Given the description of an element on the screen output the (x, y) to click on. 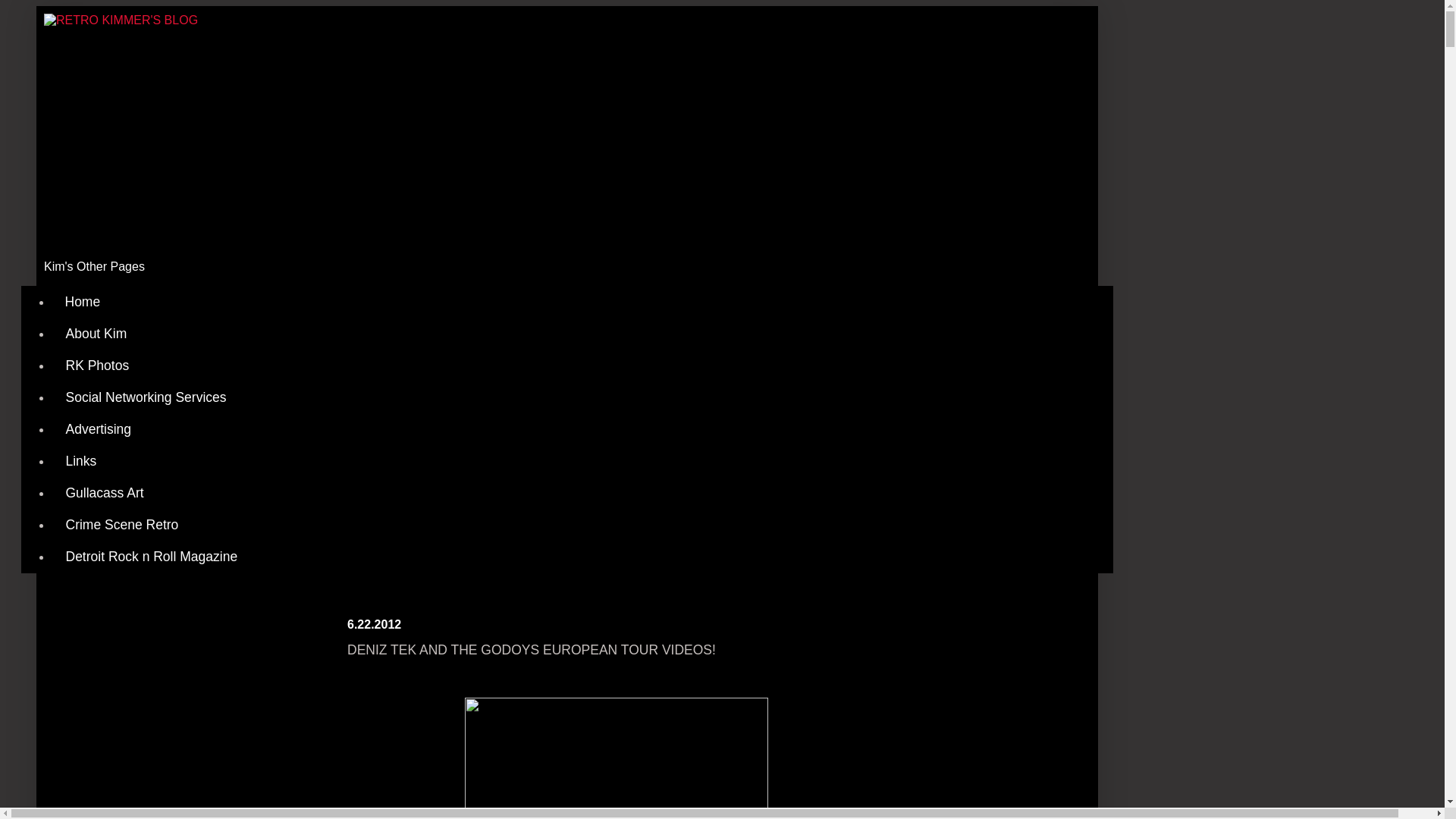
Detroit Rock n Roll Magazine (150, 556)
About Kim (95, 333)
Crime Scene Retro (121, 524)
Gullacass Art (103, 492)
Advertising (97, 429)
Home (82, 301)
Links (80, 460)
Social Networking Services (145, 397)
RK Photos (96, 365)
